Given the description of an element on the screen output the (x, y) to click on. 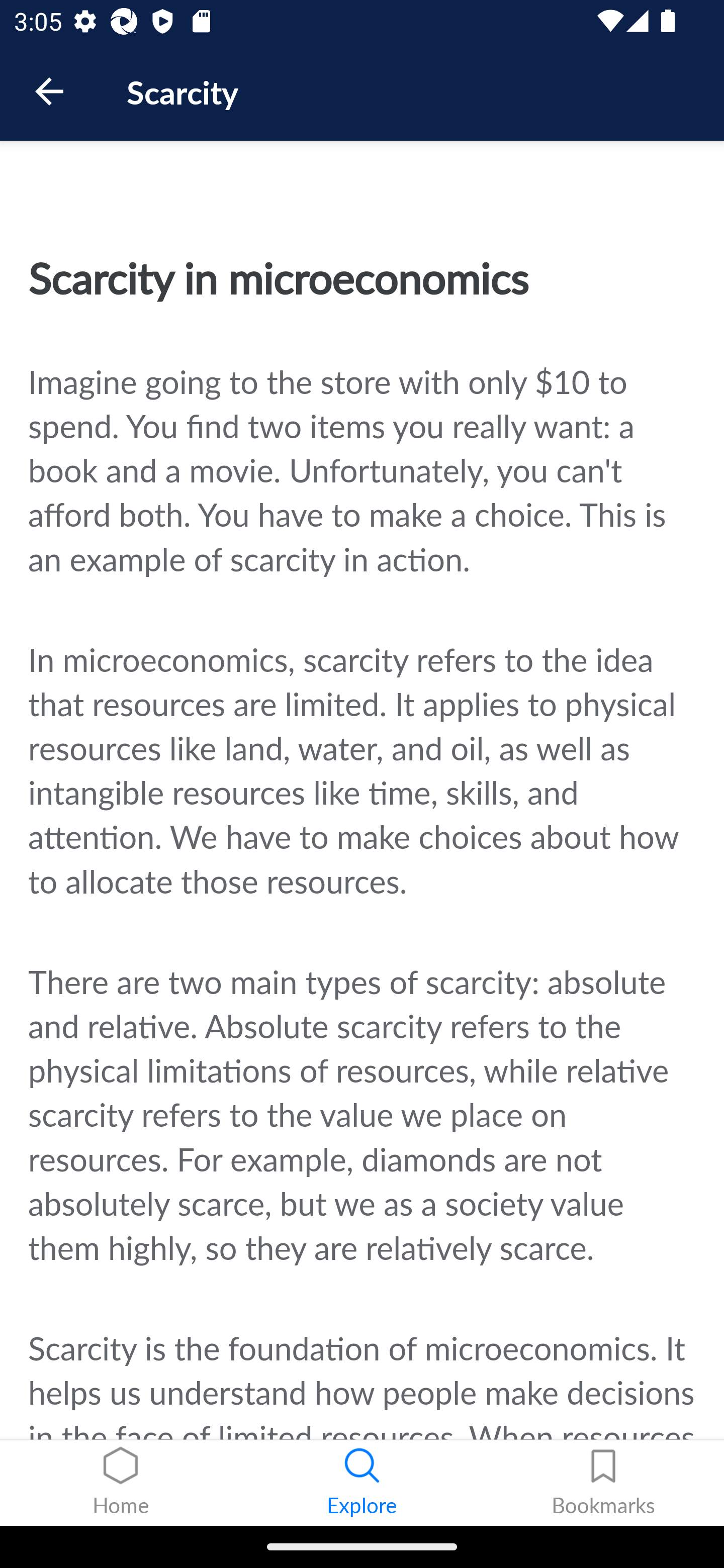
Navigate up (49, 91)
Home (120, 1482)
Explore (361, 1482)
Bookmarks (603, 1482)
